Given the description of an element on the screen output the (x, y) to click on. 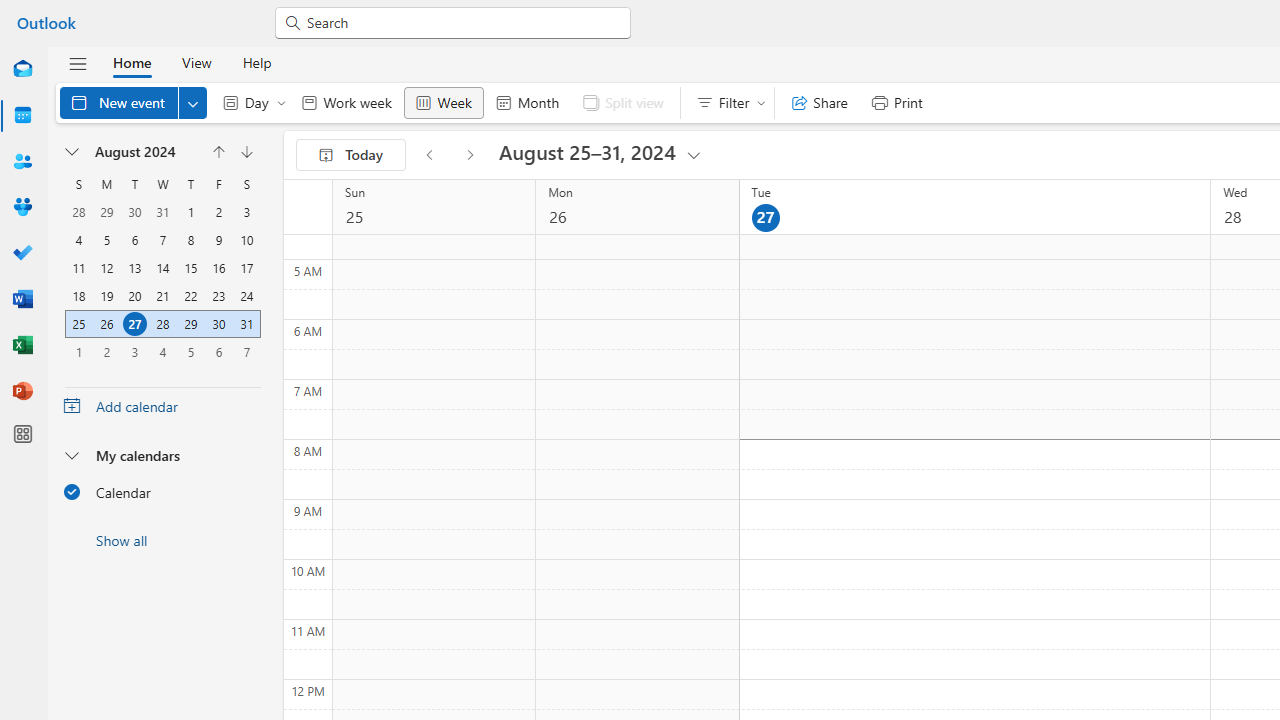
Excel (22, 345)
5, August, 2024 (107, 240)
PowerPoint (22, 391)
Go to previous month July (218, 152)
22, August, 2024 (191, 295)
26, August, 2024 (106, 323)
More options (307, 207)
Go to next month September (246, 152)
Expand to see more Day options (281, 102)
31, July, 2024 (163, 211)
Search (461, 21)
Class: weekRow-292 (163, 351)
3, August, 2024 (246, 212)
15, August, 2024 (190, 268)
